Given the description of an element on the screen output the (x, y) to click on. 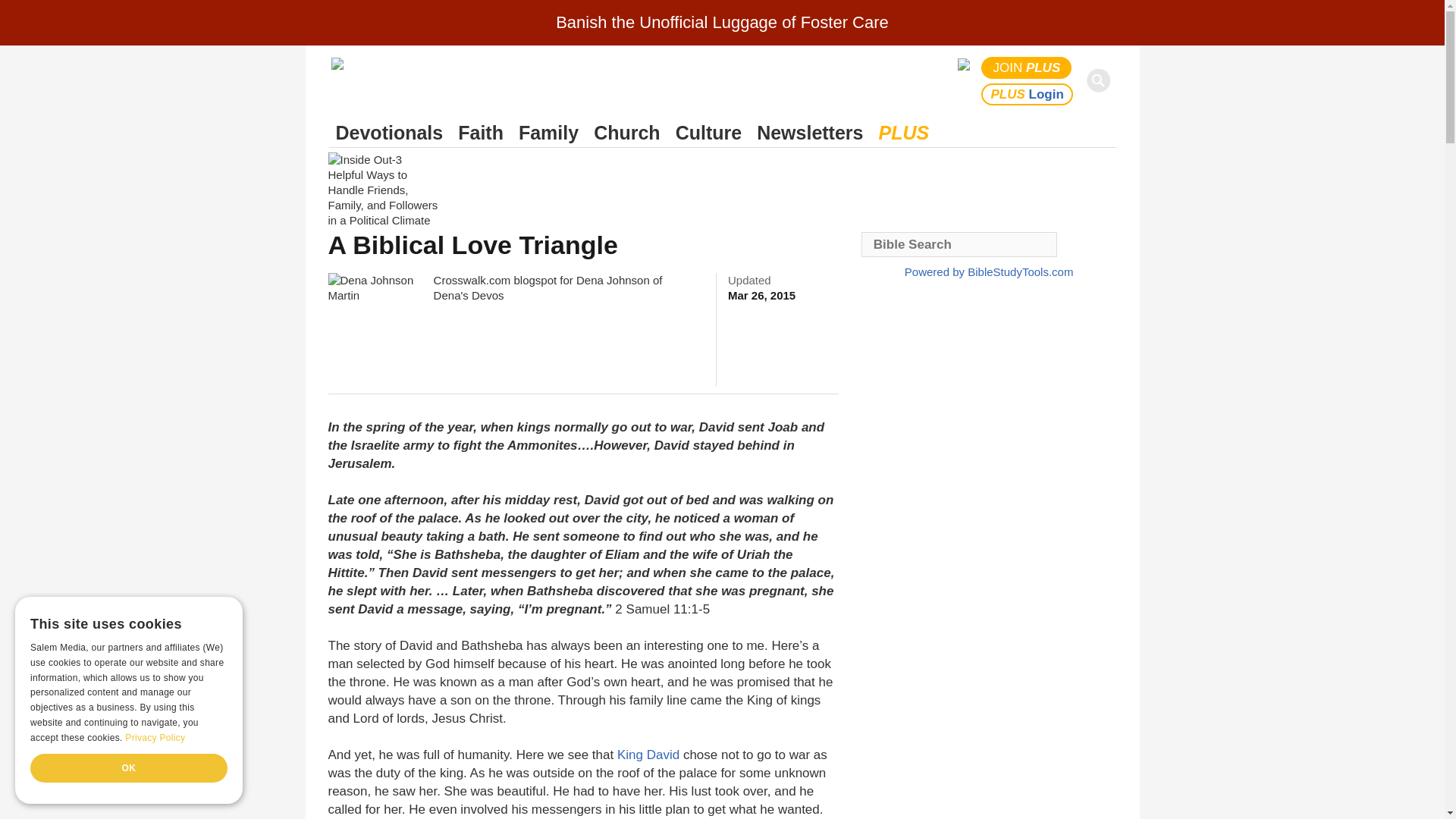
Devotionals (389, 132)
Search (1101, 80)
Join Plus (1026, 67)
JOIN PLUS (1026, 67)
PLUS Login (1026, 94)
Plus Login (1026, 94)
